Given the description of an element on the screen output the (x, y) to click on. 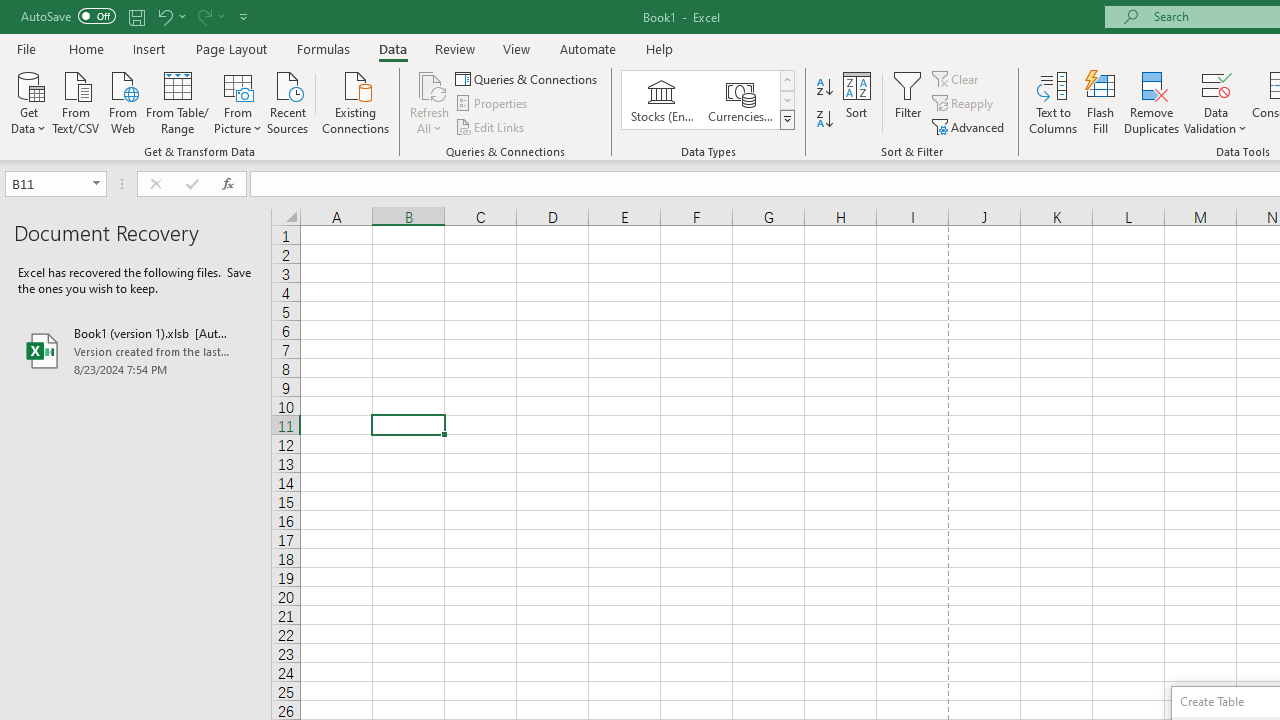
Flash Fill (1101, 102)
From Web (122, 101)
Reapply (964, 103)
Row up (786, 79)
Sort Z to A (824, 119)
Existing Connections (355, 101)
Sort... (856, 102)
Review (454, 48)
Queries & Connections (527, 78)
Currencies (English) (740, 100)
Data Validation... (1215, 84)
